Given the description of an element on the screen output the (x, y) to click on. 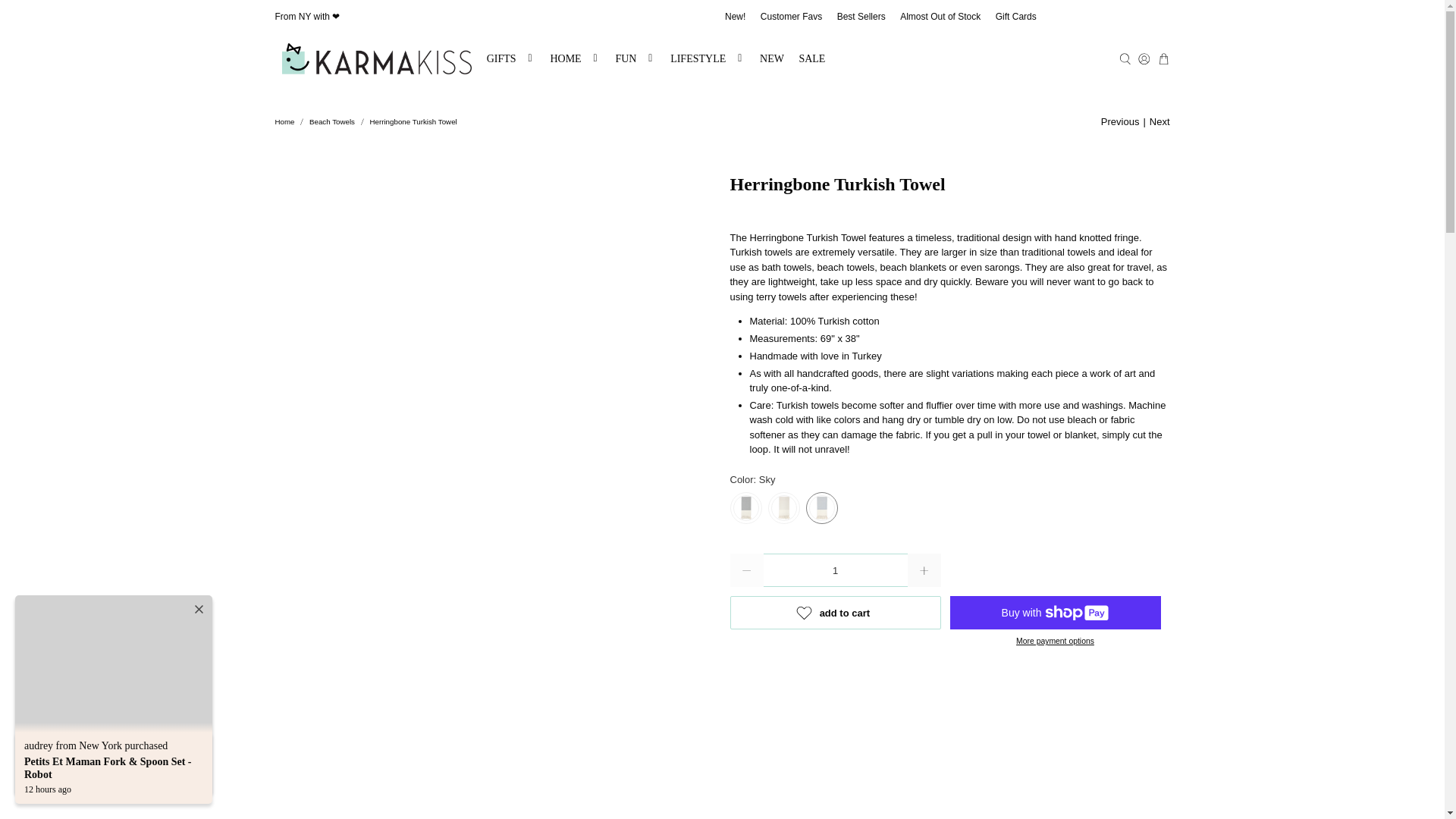
Previous (1120, 121)
Next (1160, 121)
HOME (575, 58)
Customer Favs (790, 16)
Almost Out of Stock (940, 16)
SALE (812, 58)
Best Sellers (861, 16)
NEW (771, 58)
1 (834, 570)
Gift Cards (1015, 16)
New! (734, 16)
GIFTS (511, 58)
Beach Towels (331, 121)
FUN (635, 58)
Karma Kiss (376, 58)
